Given the description of an element on the screen output the (x, y) to click on. 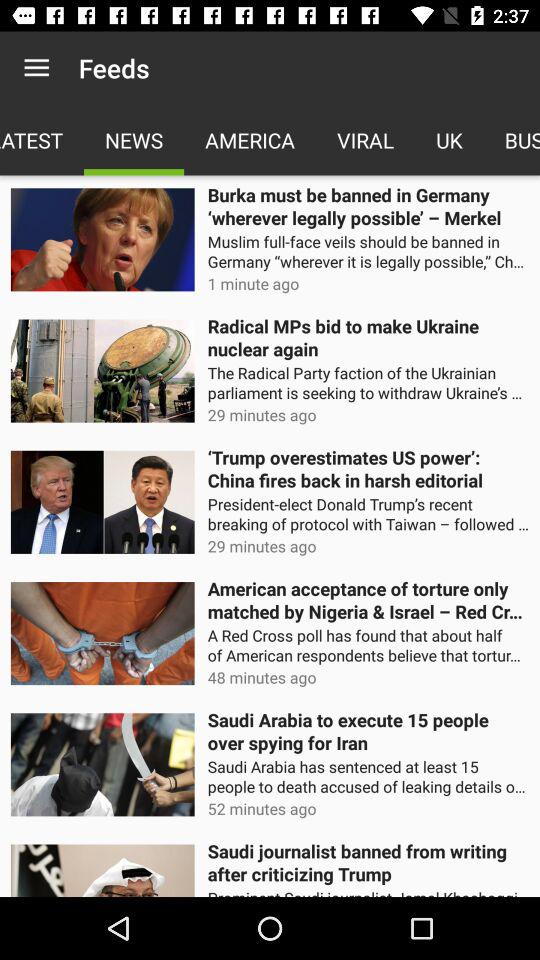
choose the latest item (42, 140)
